Given the description of an element on the screen output the (x, y) to click on. 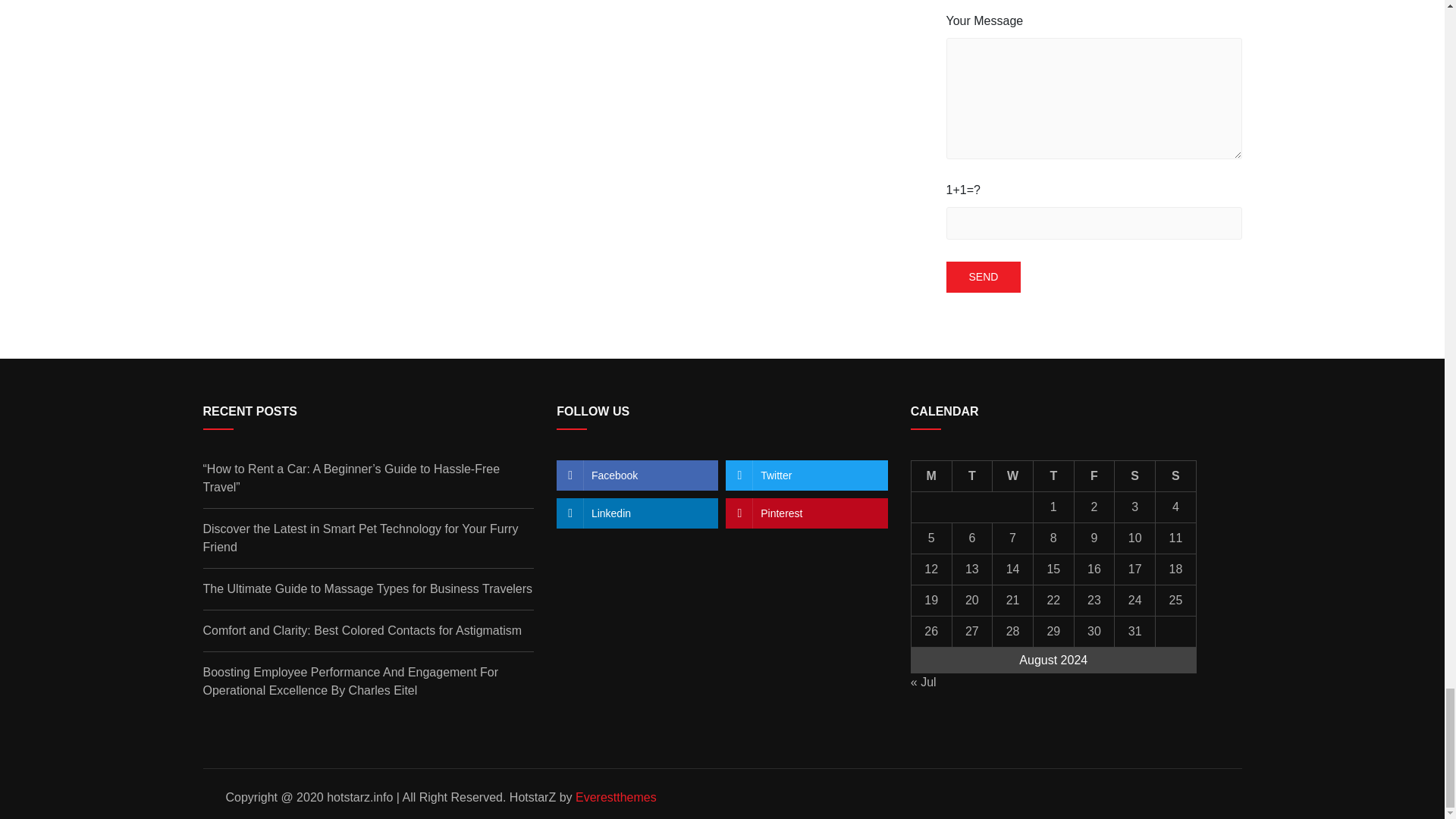
Friday (1094, 476)
Tuesday (972, 476)
Sunday (1176, 476)
Saturday (1135, 476)
Thursday (1053, 476)
Monday (931, 476)
Send (984, 276)
Wednesday (1012, 476)
